Given the description of an element on the screen output the (x, y) to click on. 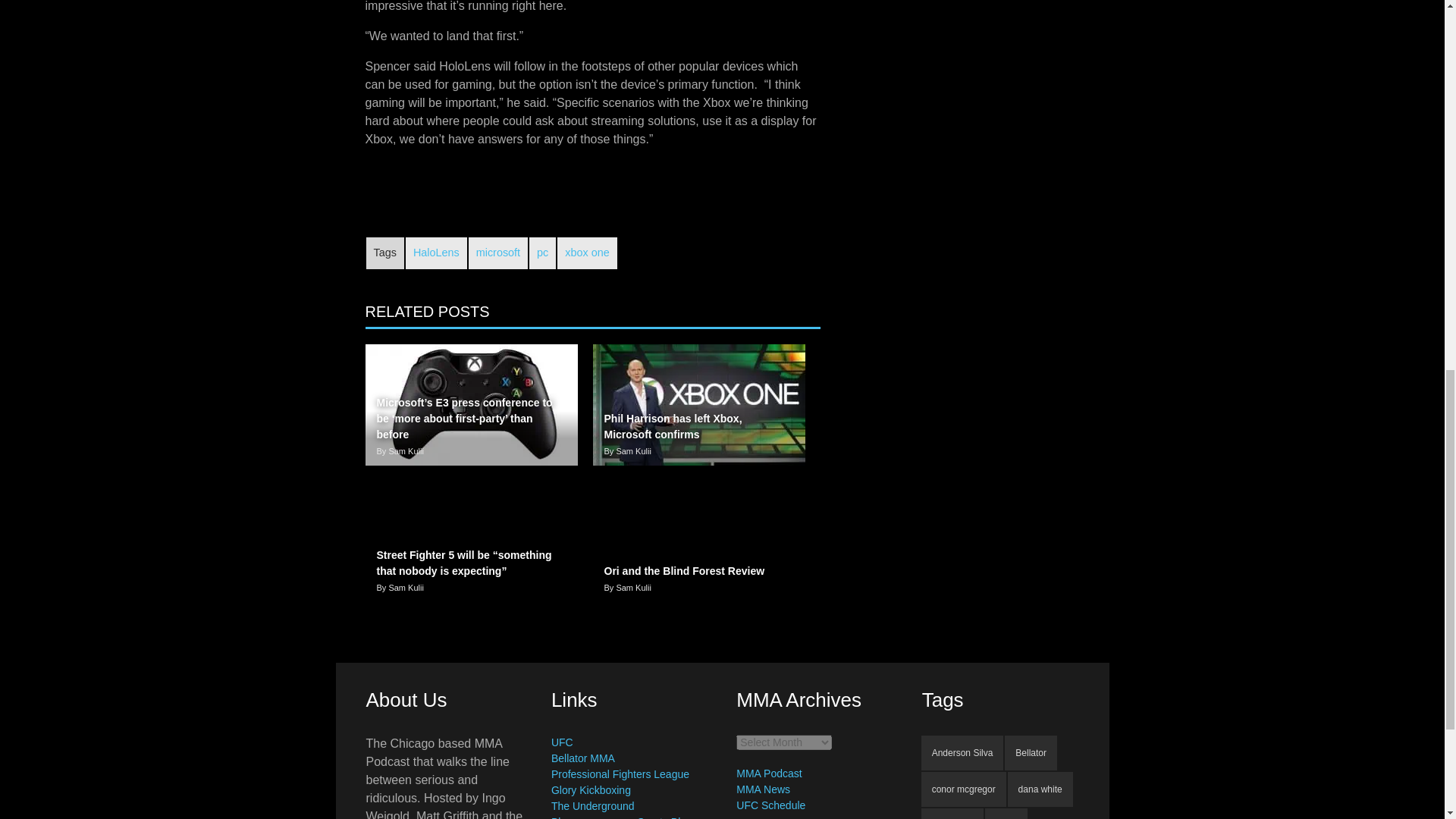
HaloLens (436, 253)
microsoft (497, 253)
xbox one (586, 253)
pc (542, 253)
